Given the description of an element on the screen output the (x, y) to click on. 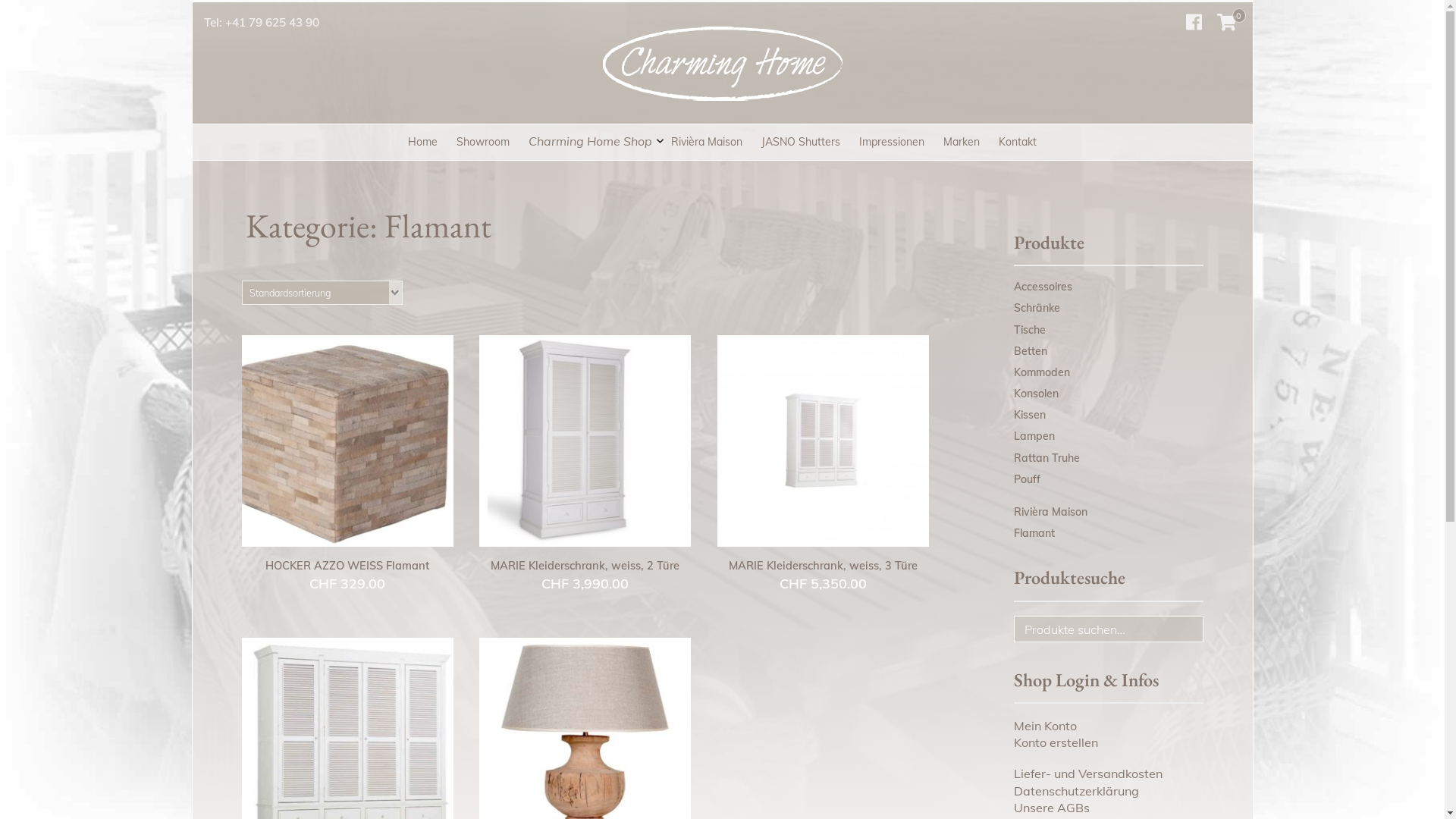
Lampen Element type: text (1033, 435)
Liefer- und Versandkosten Element type: text (1087, 773)
Charming Home Shop Element type: text (590, 141)
Kontakt Element type: text (1017, 141)
Pouff Element type: text (1026, 479)
Home Element type: text (422, 141)
Kissen Element type: text (1028, 414)
Unsere AGBs Element type: text (1050, 807)
Kommoden Element type: text (1041, 372)
Mein Konto Element type: text (1044, 725)
Marken Element type: text (961, 141)
Tische Element type: text (1028, 329)
Betten Element type: text (1029, 350)
Konsolen Element type: text (1035, 393)
Rattan Truhe Element type: text (1046, 457)
Tel: +41 79 625 43 90 Element type: text (260, 21)
SUCHE Element type: text (1184, 634)
Accessoires Element type: text (1042, 286)
0 Element type: text (1226, 22)
Charming Home Element type: text (371, 129)
Showroom Element type: text (482, 141)
Konto erstellen Element type: text (1055, 741)
HOCKER AZZO WEISS Flamant
CHF 329.00 Element type: text (346, 464)
JASNO Shutters Element type: text (800, 141)
Impressionen Element type: text (891, 141)
Flamant Element type: text (1033, 532)
